Given the description of an element on the screen output the (x, y) to click on. 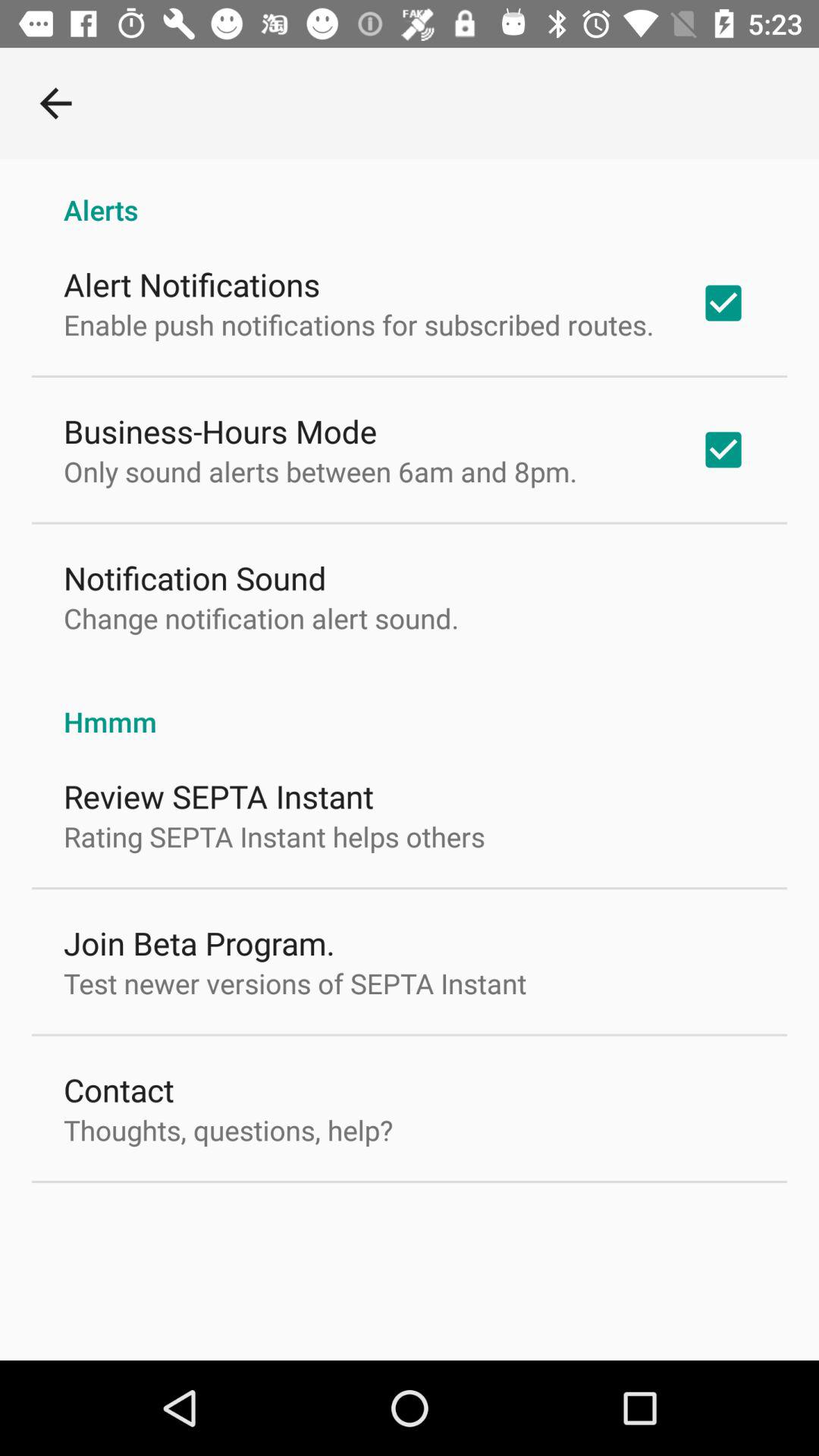
turn on the icon below the test newer versions item (118, 1089)
